Given the description of an element on the screen output the (x, y) to click on. 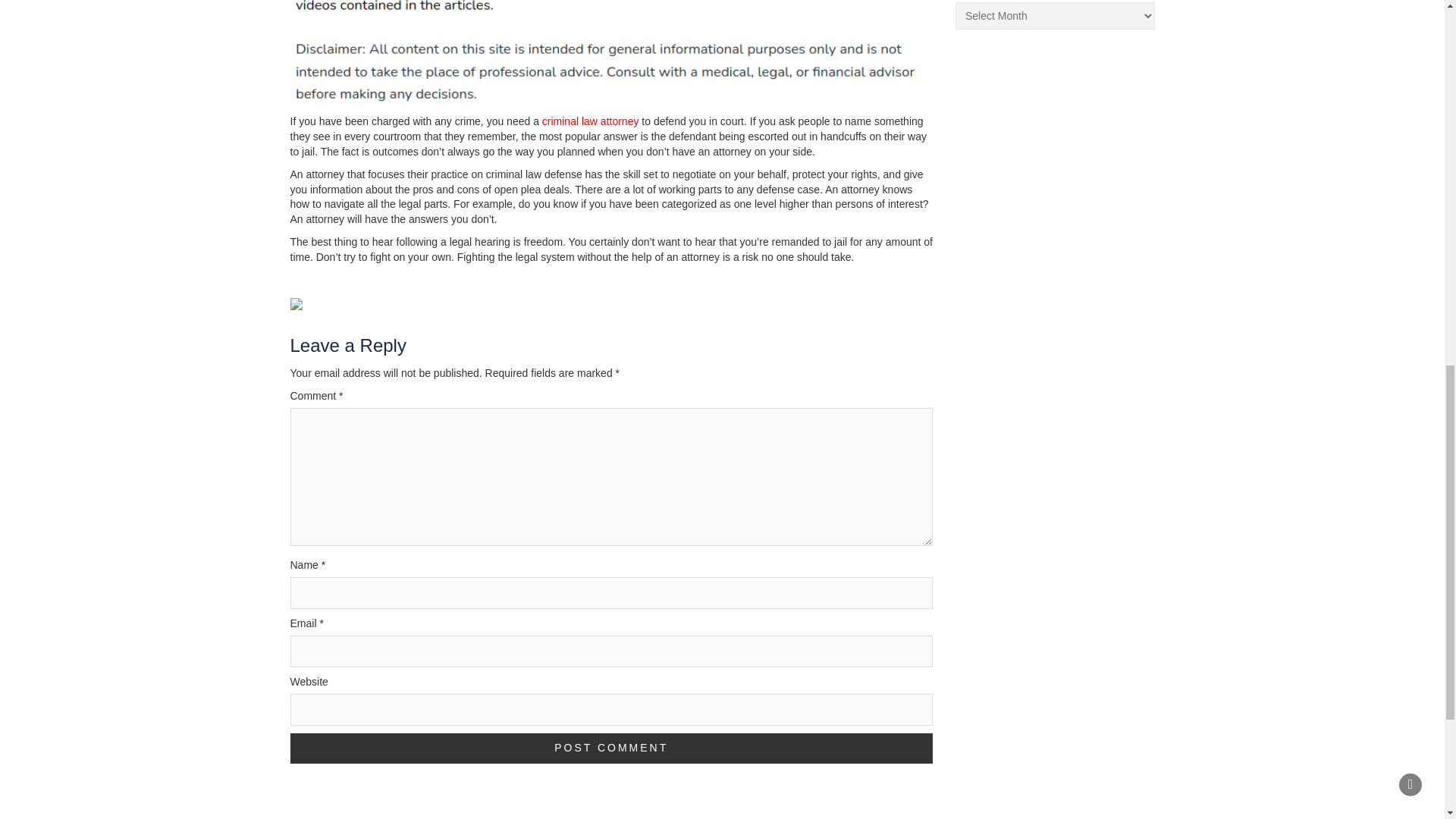
criminal law attorney (590, 121)
Post Comment (611, 748)
Post Comment (611, 748)
